Given the description of an element on the screen output the (x, y) to click on. 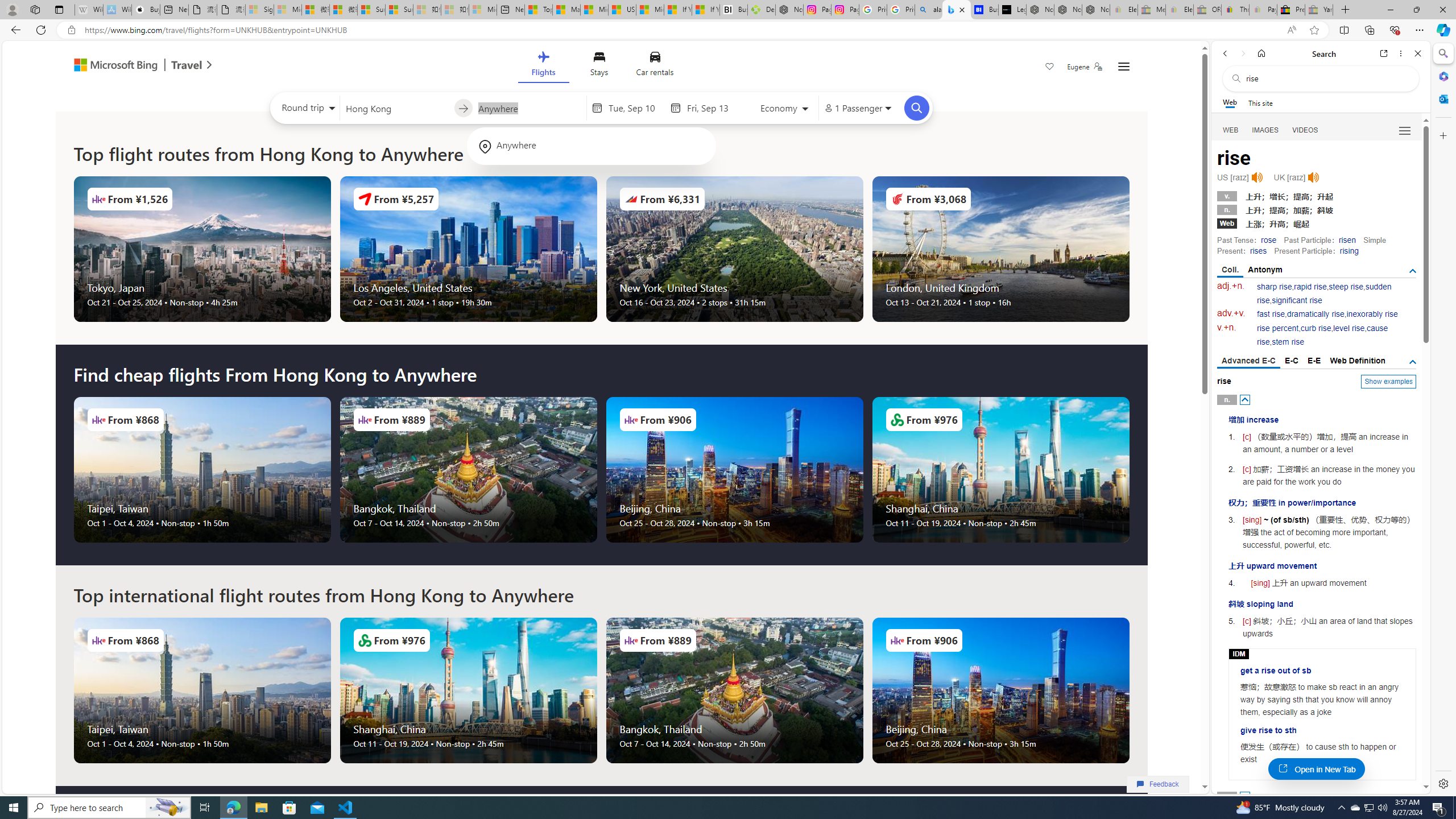
stem rise (1287, 341)
Antonym (1265, 269)
AutomationID: posbtn_1 (1245, 796)
WEB (1231, 130)
Microsoft Bing (110, 65)
